Given the description of an element on the screen output the (x, y) to click on. 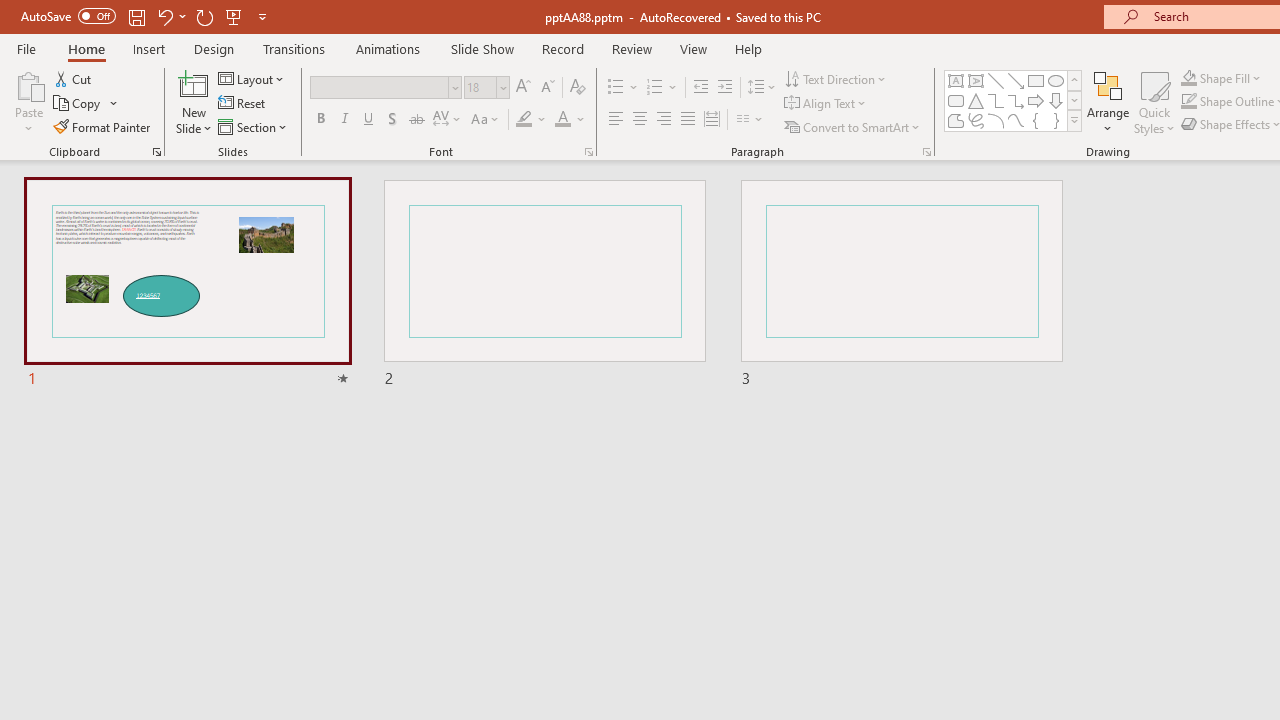
Shape Fill Aqua, Accent 2 (1188, 78)
